Given the description of an element on the screen output the (x, y) to click on. 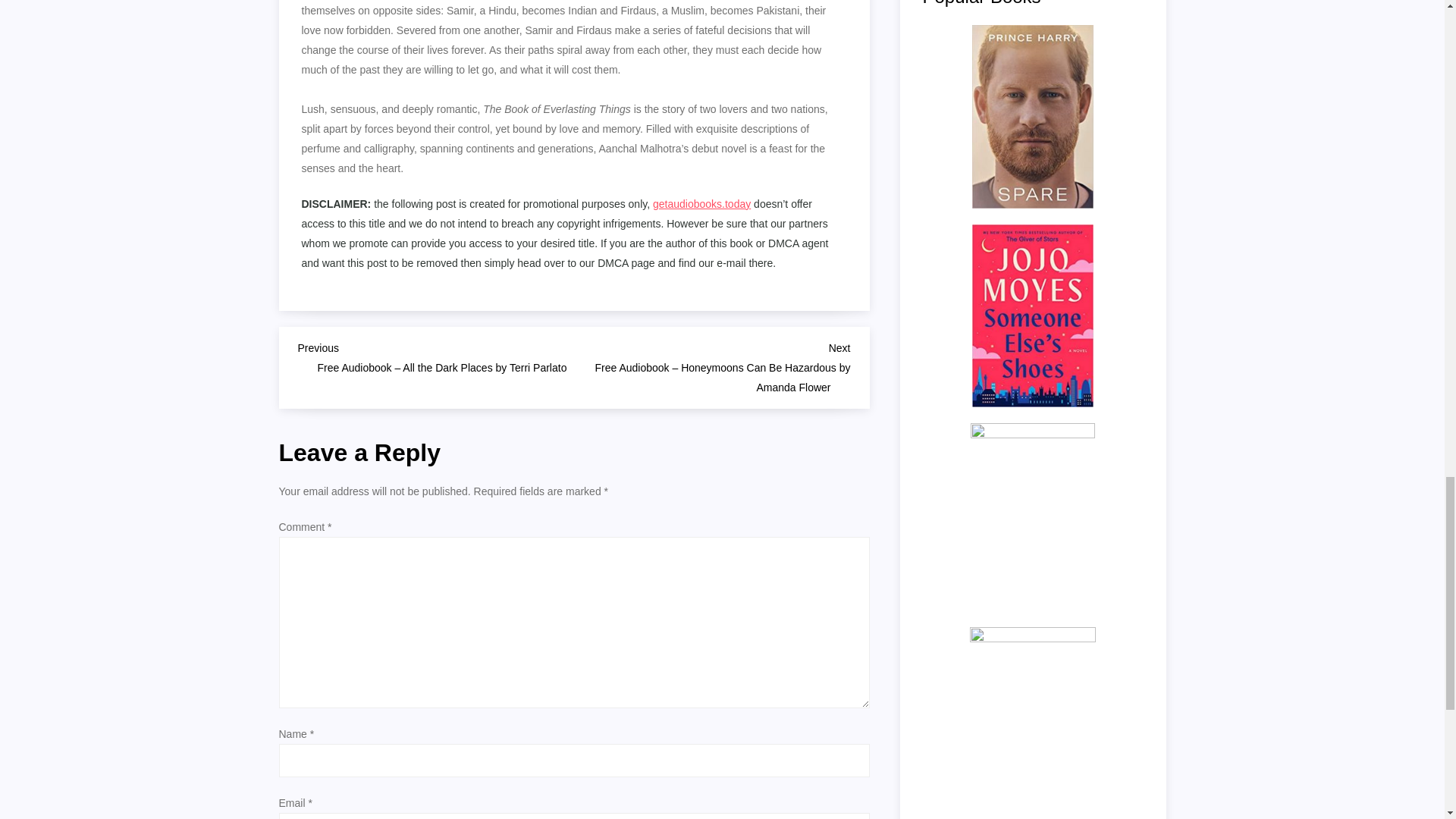
getaudiobooks.today (701, 203)
